Given the description of an element on the screen output the (x, y) to click on. 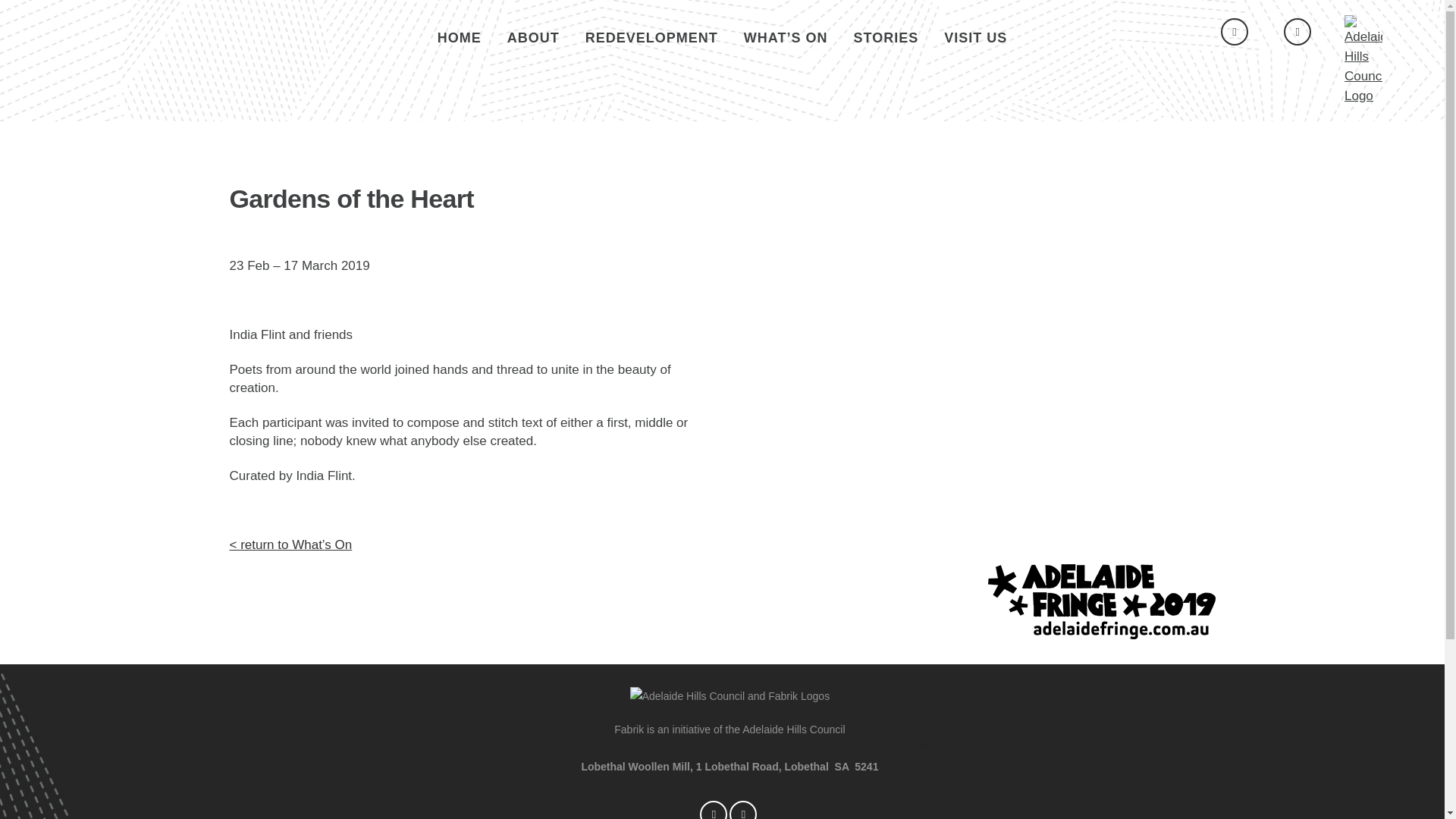
Fringelogo-1 (1100, 601)
STORIES (885, 38)
ABOUT (533, 38)
HOME (460, 38)
REDEVELOPMENT (651, 38)
VISIT US (975, 38)
